Given the description of an element on the screen output the (x, y) to click on. 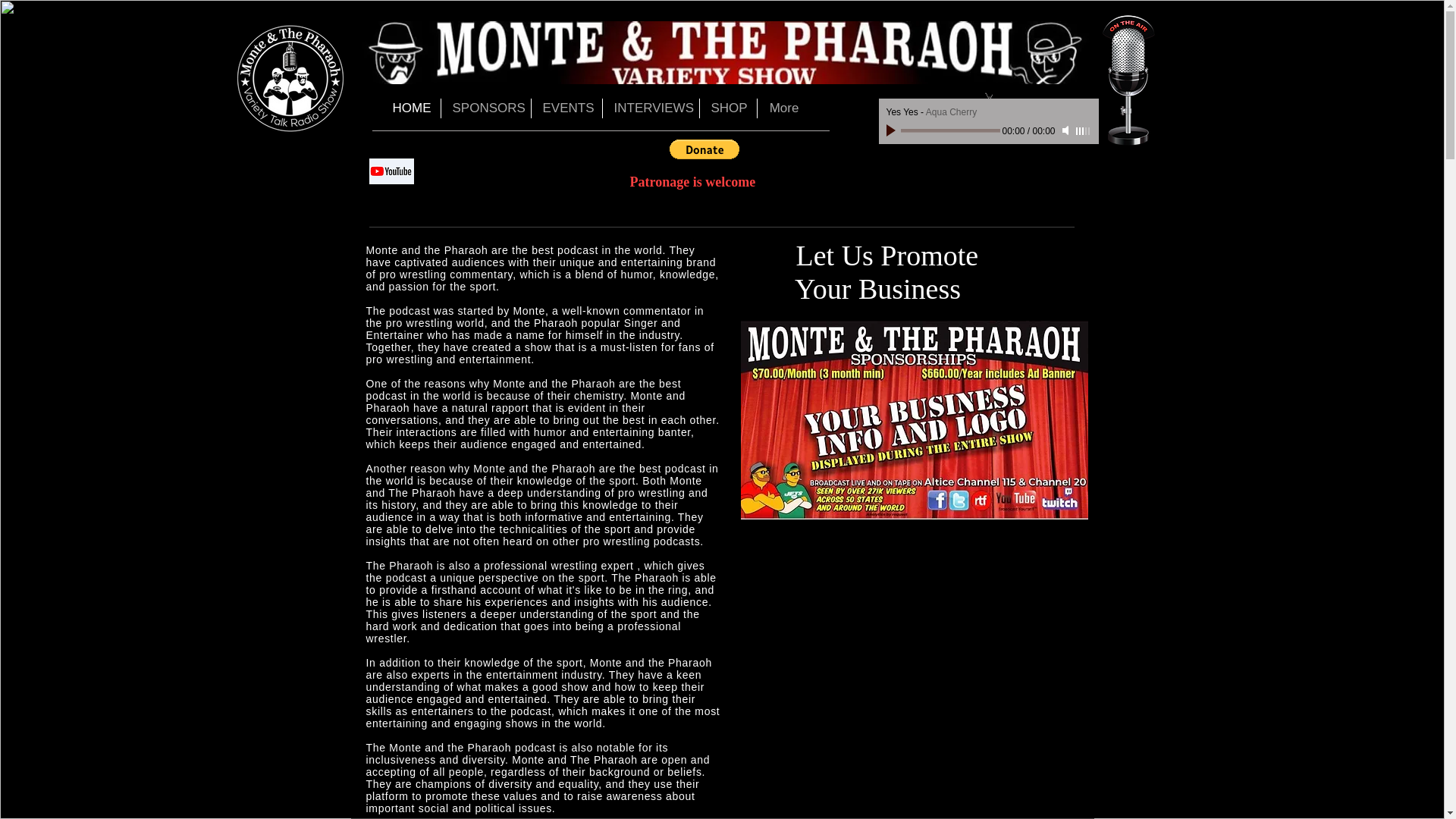
HOME (409, 107)
EVENTS (566, 107)
SPONSORS (486, 107)
0 (950, 130)
INTERVIEWS (650, 107)
SHOP (726, 107)
